Given the description of an element on the screen output the (x, y) to click on. 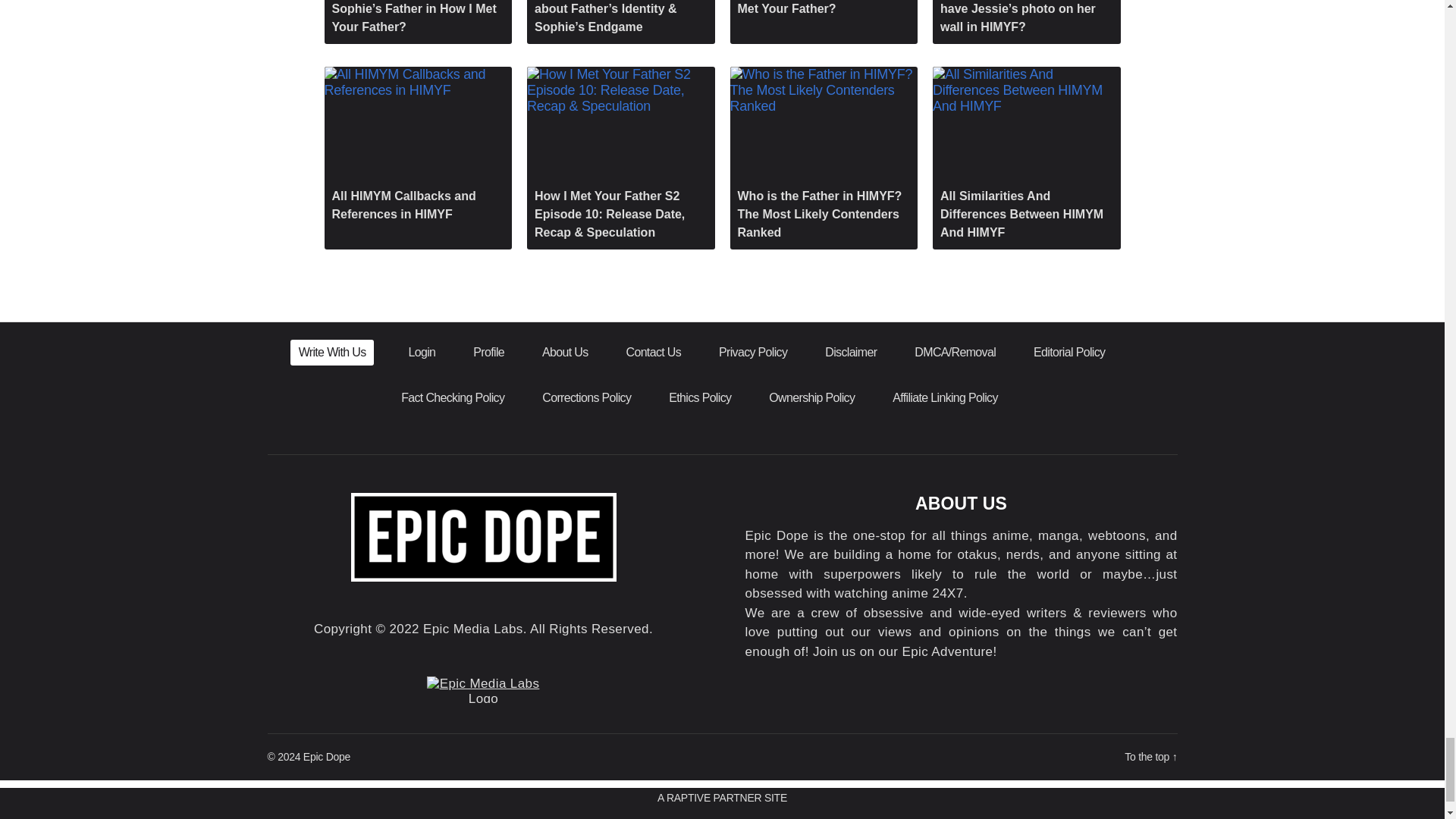
All HIMYM Callbacks and References in HIMYF (418, 148)
Who Is the Father in How I Met Your Father? (823, 12)
All Similarities And Differences Between HIMYM And HIMYF (1027, 157)
